Given the description of an element on the screen output the (x, y) to click on. 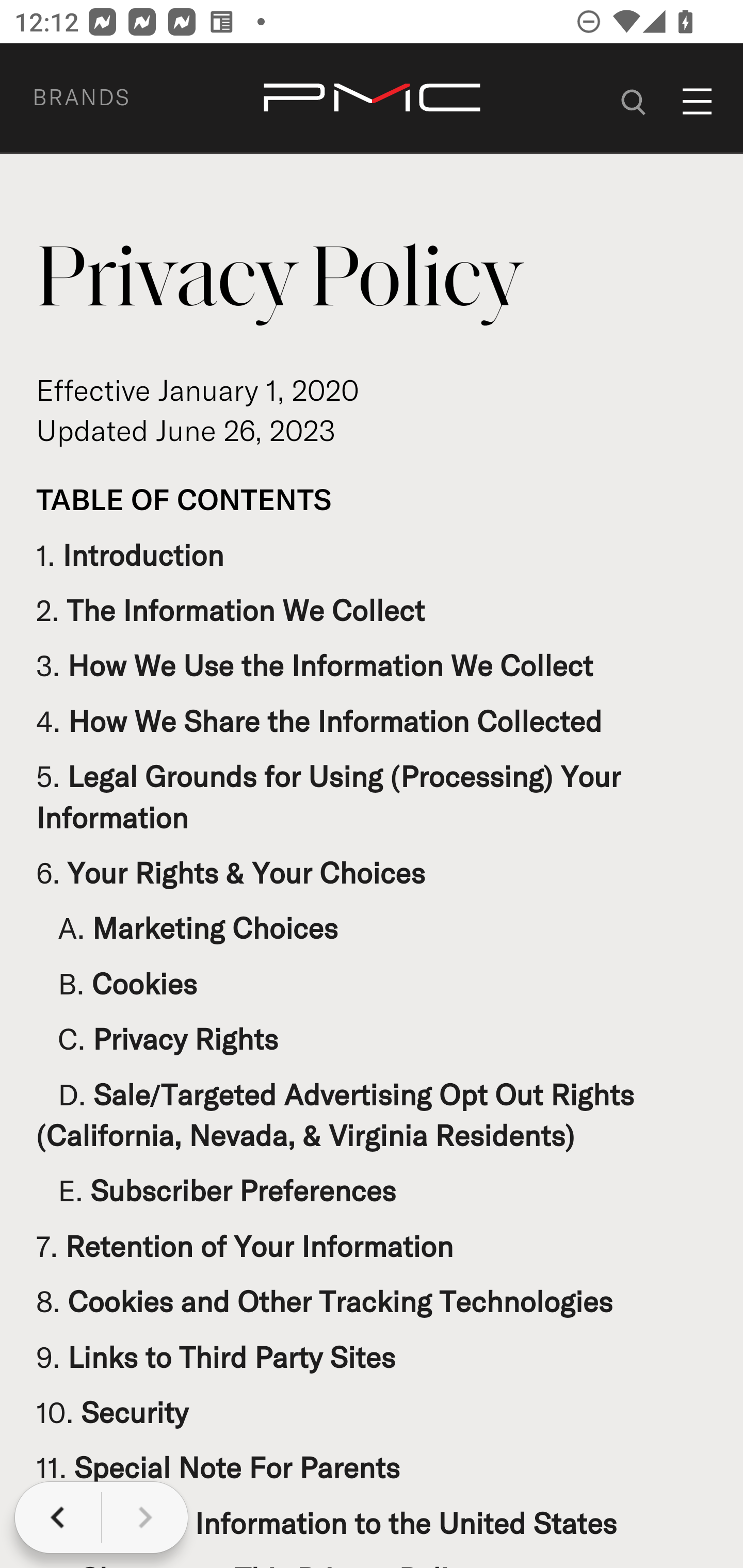
home (371, 98)
BRANDS (105, 96)
privacy-policy# (633, 98)
menu (697, 101)
1. Introduction 1.  Introduction (130, 554)
A. Marketing Choices A.  Marketing Choices (187, 927)
B. Cookies B.  Cookies (117, 982)
C. Privacy Rights C.  Privacy Rights (156, 1038)
10. Security 10.  Security (112, 1411)
